Given the description of an element on the screen output the (x, y) to click on. 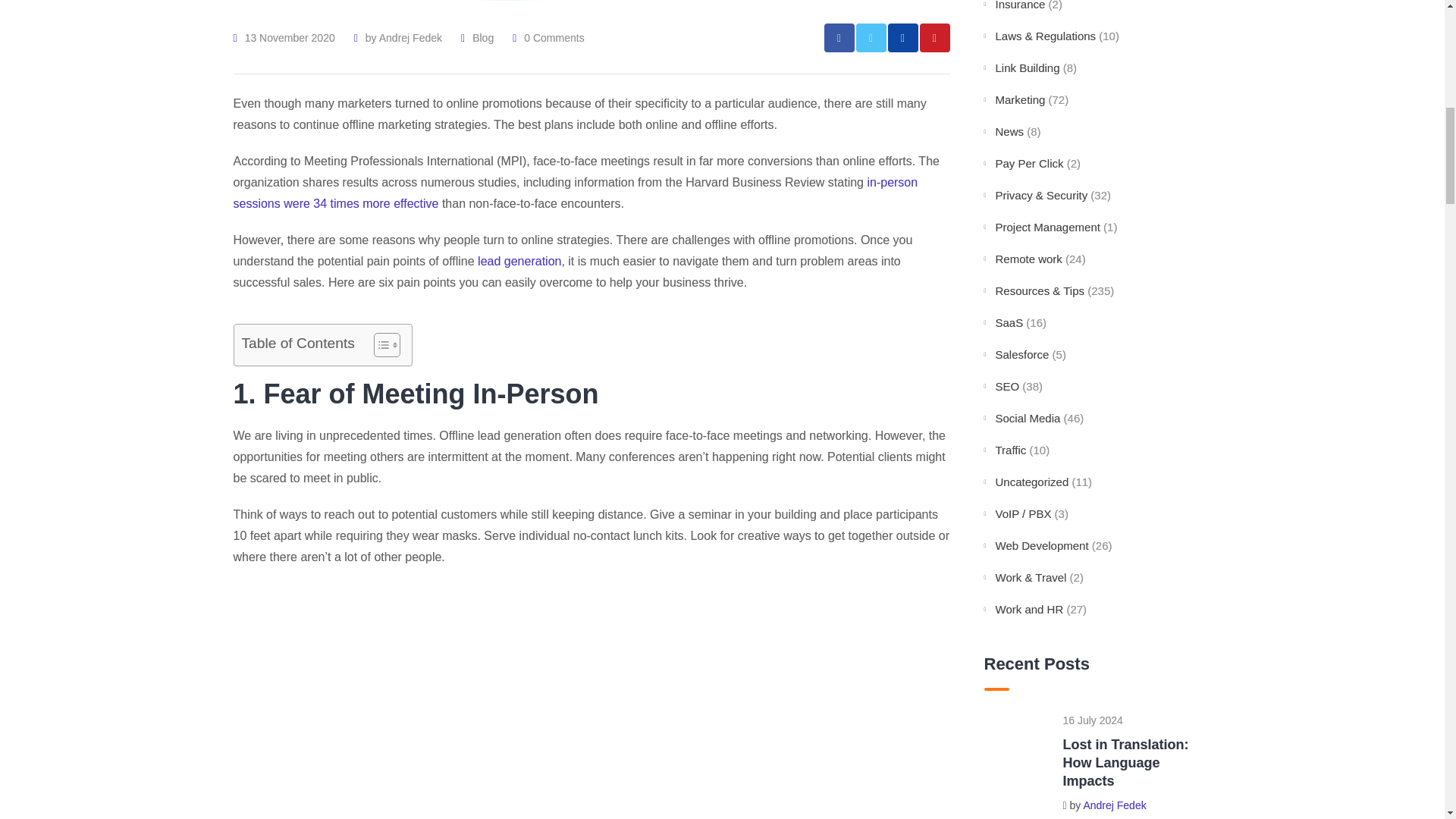
Posts by Andrej Fedek (410, 37)
0 Comments (553, 37)
Andrej Fedek (410, 37)
Posts by Andrej Fedek (1114, 805)
lead generation (518, 260)
in-person sessions were 34 times more effective (575, 192)
Blog (482, 37)
